Given the description of an element on the screen output the (x, y) to click on. 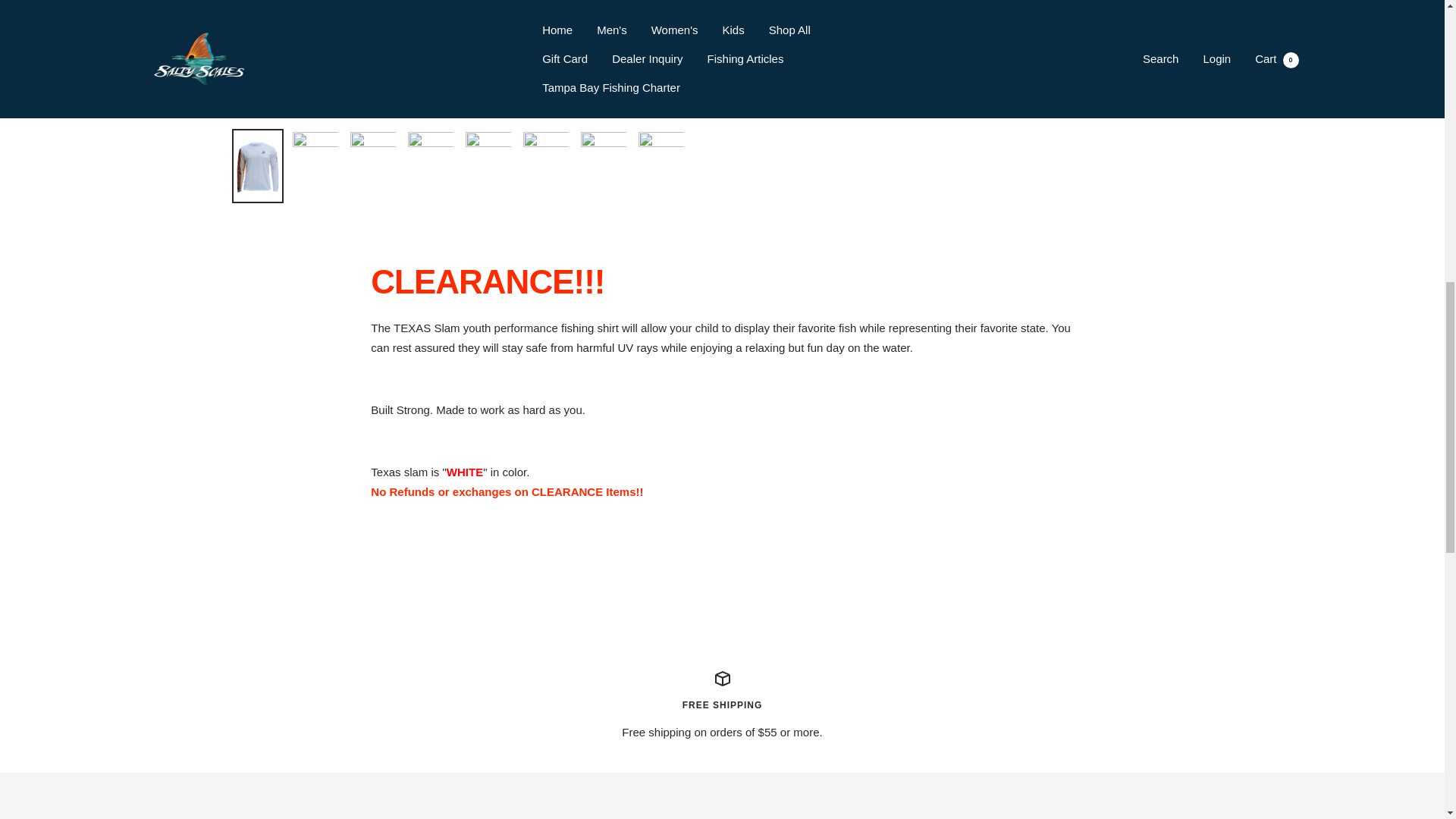
Zoom (686, 90)
